Given the description of an element on the screen output the (x, y) to click on. 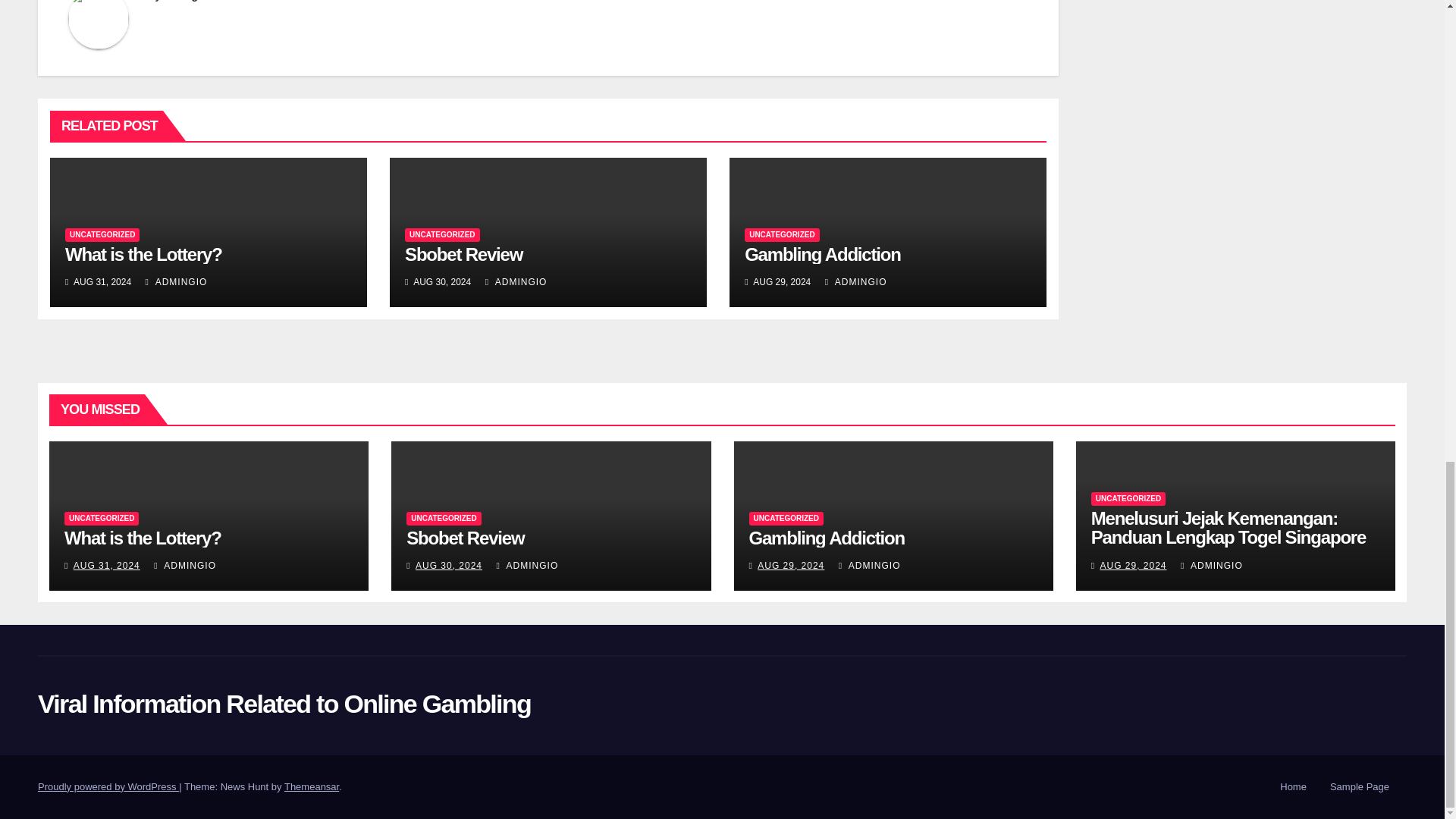
ADMINGIO (176, 281)
Permalink to: Sbobet Review (465, 537)
Permalink to: What is the Lottery? (143, 254)
UNCATEGORIZED (781, 234)
What is the Lottery? (143, 254)
Home (1293, 786)
ADMINGIO (855, 281)
UNCATEGORIZED (102, 234)
Permalink to: Gambling Addiction (827, 537)
ADMINGIO (515, 281)
